Given the description of an element on the screen output the (x, y) to click on. 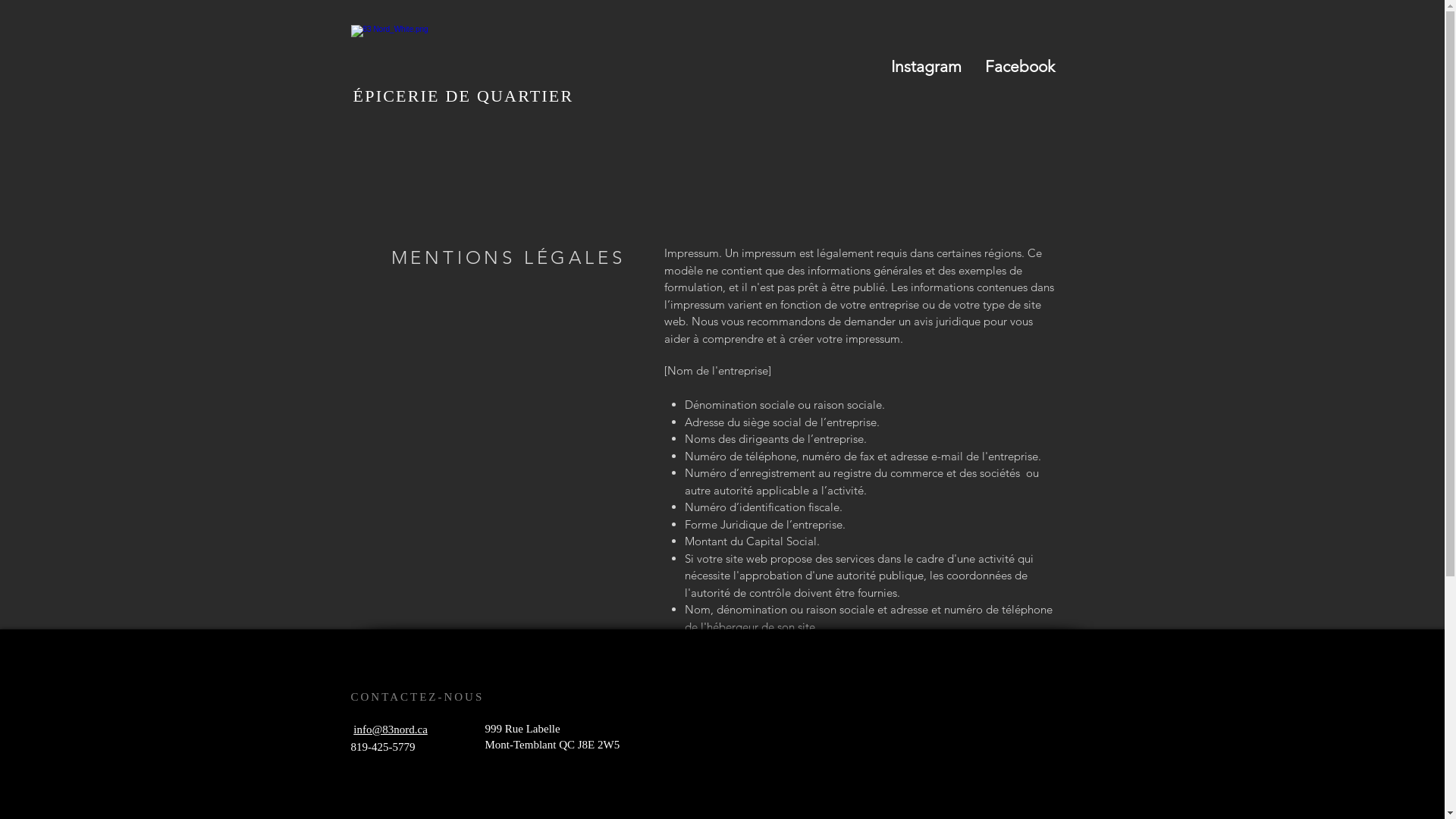
Facebook Element type: text (1019, 65)
http://ec.europa.eu/consumers/odr/ Element type: text (755, 726)
Instagram Element type: text (925, 65)
info@83nord.ca Element type: text (390, 729)
